Given the description of an element on the screen output the (x, y) to click on. 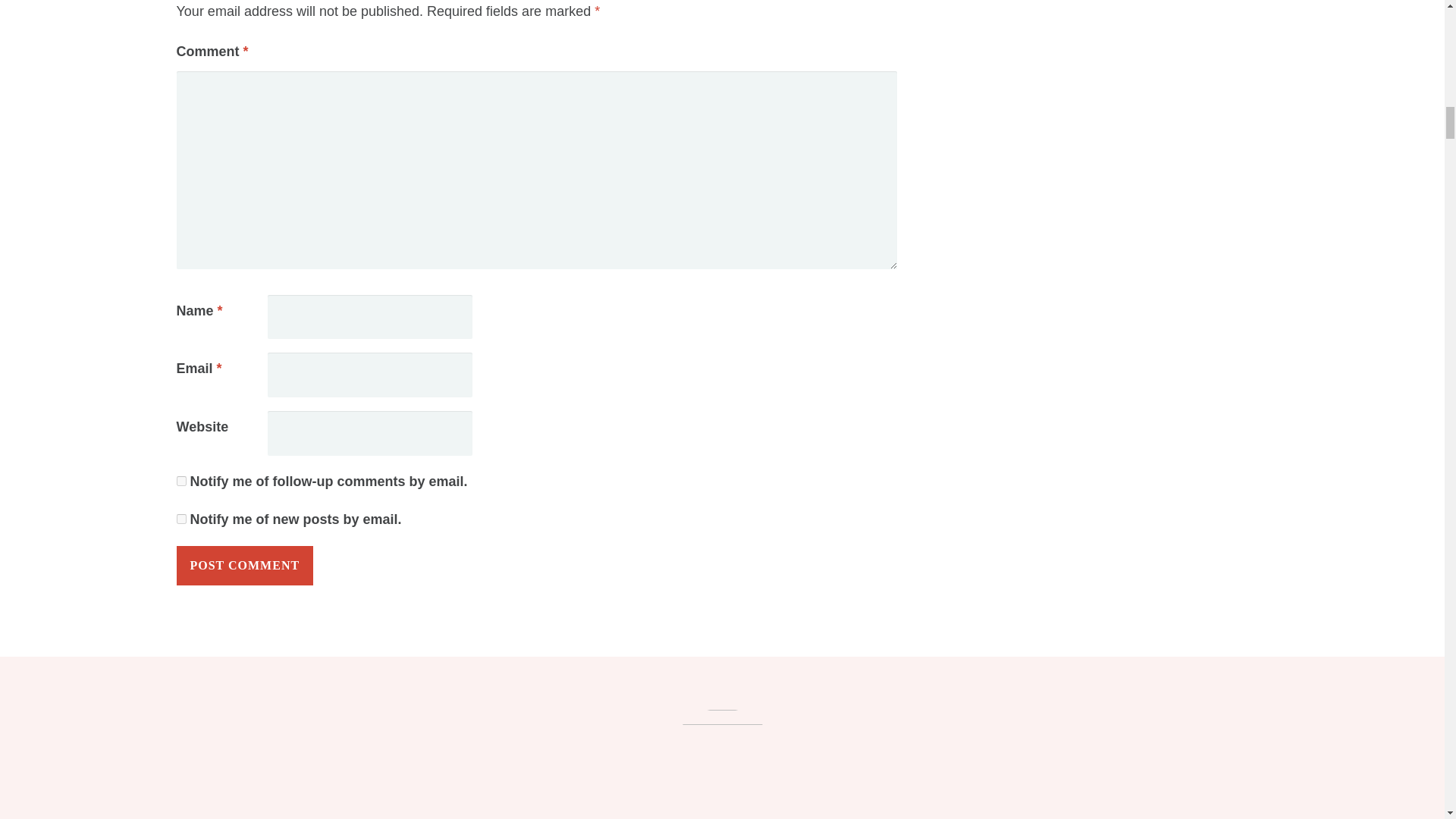
Post Comment (244, 565)
Post Comment (244, 565)
subscribe (181, 480)
subscribe (181, 519)
